Given the description of an element on the screen output the (x, y) to click on. 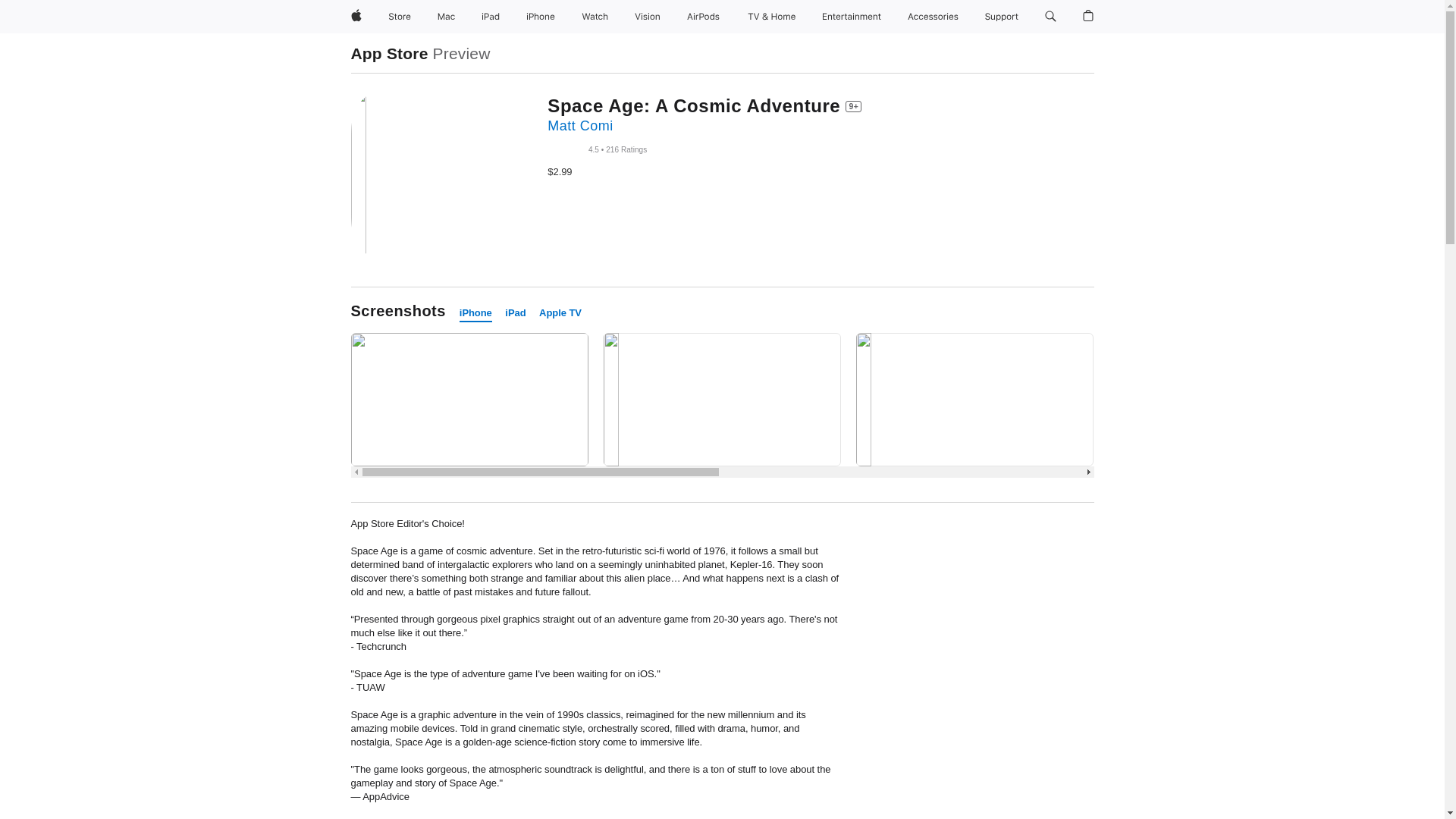
Vision (647, 16)
iPad (490, 16)
Accessories (932, 16)
Apple TV (559, 313)
Support (1001, 16)
iPad (515, 313)
AirPods (703, 16)
Watch (594, 16)
App Store (389, 53)
Store (398, 16)
